Given the description of an element on the screen output the (x, y) to click on. 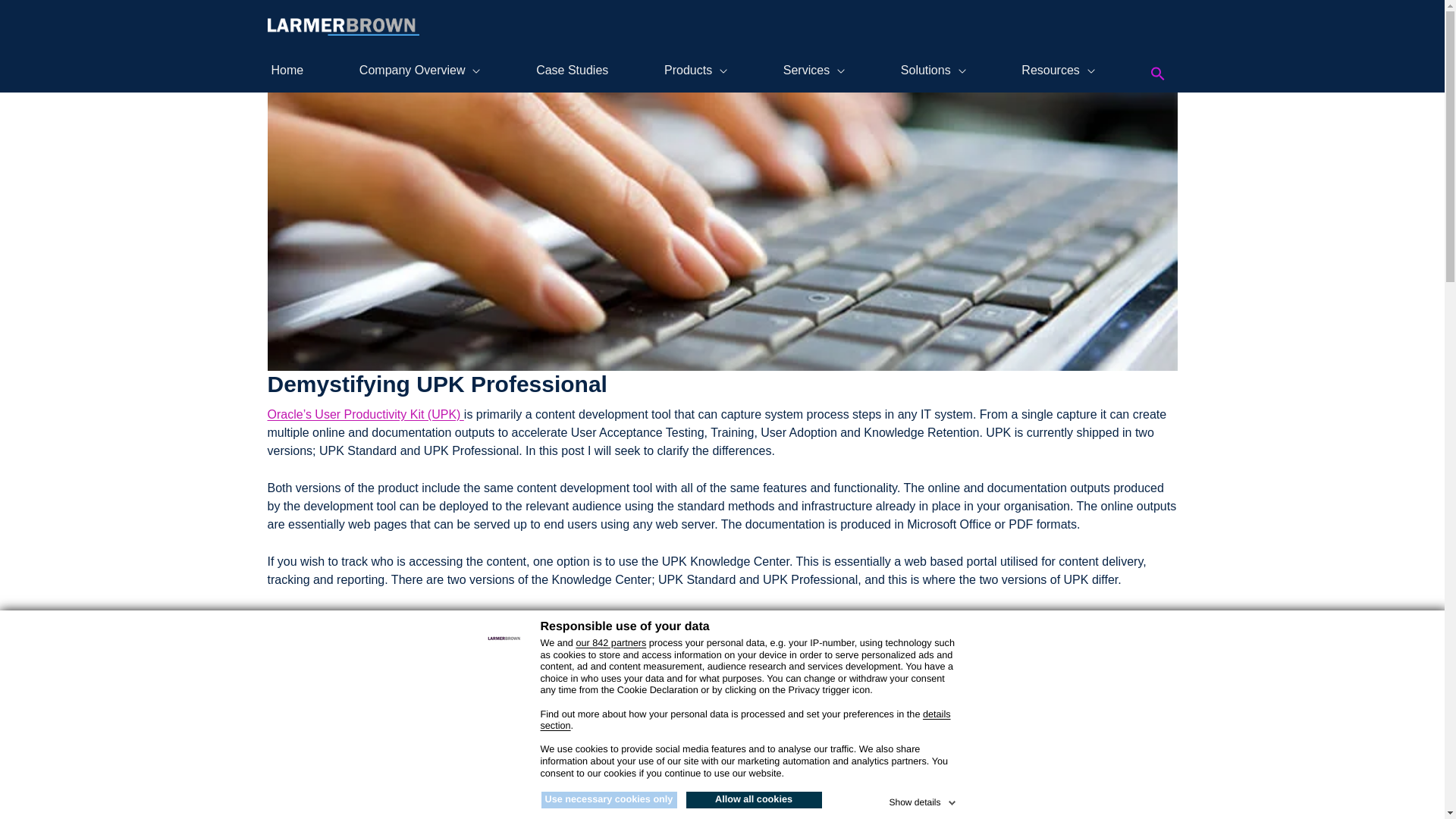
details section (745, 720)
our 842 partners (610, 643)
Show details (923, 799)
Use necessary cookies only (609, 799)
Allow all cookies (753, 799)
